Given the description of an element on the screen output the (x, y) to click on. 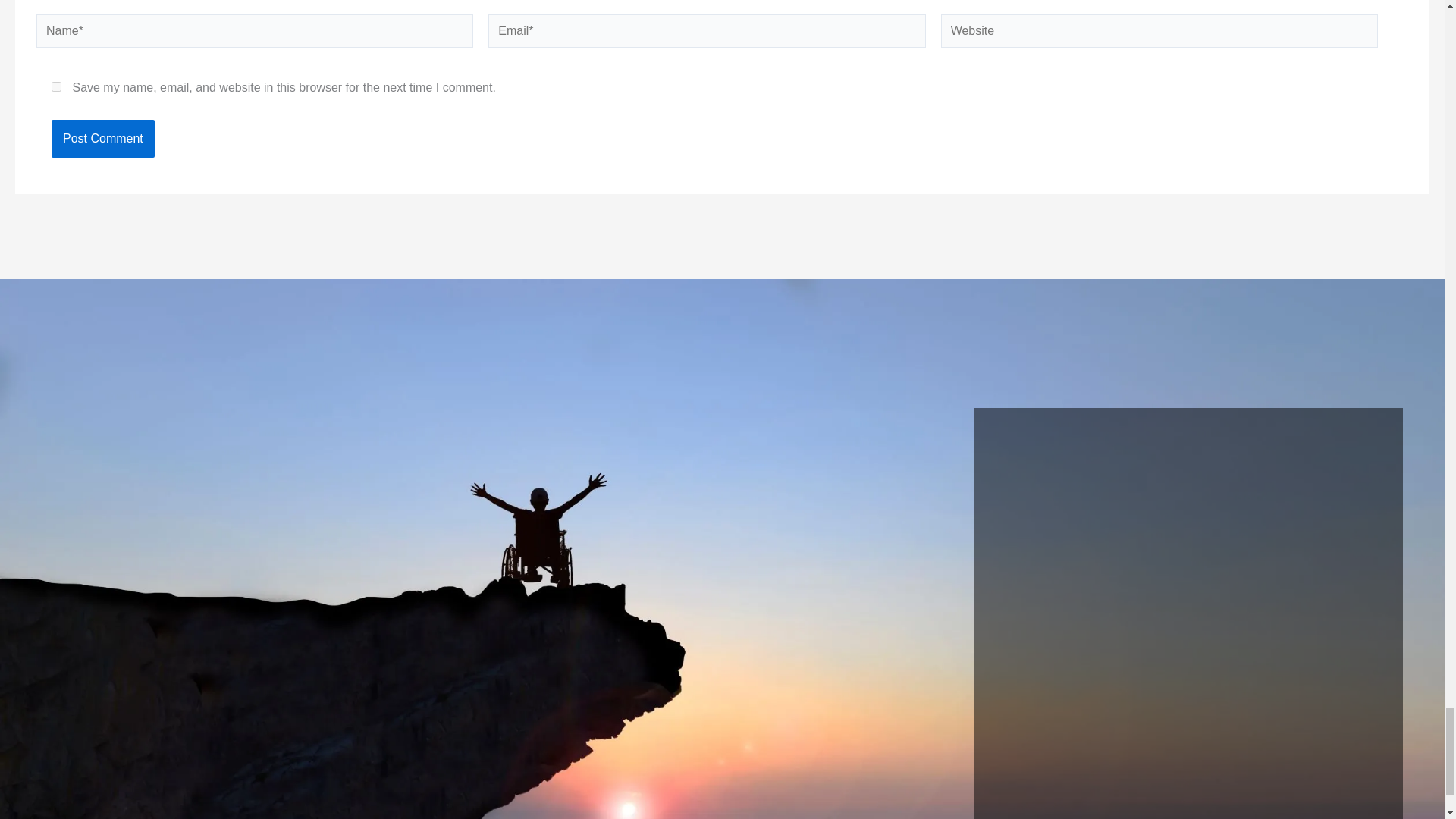
yes (55, 86)
Post Comment (102, 138)
